Given the description of an element on the screen output the (x, y) to click on. 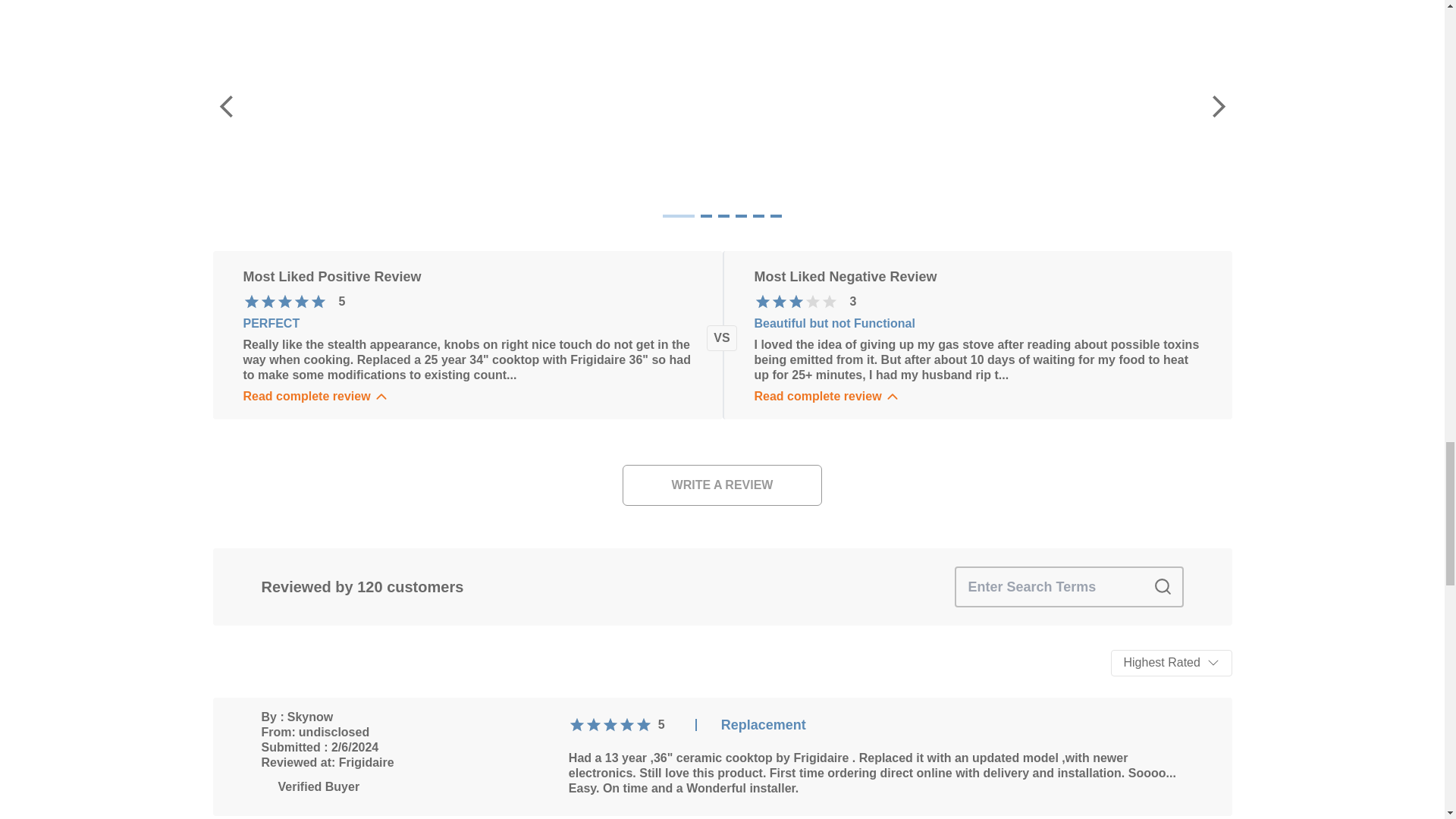
Highest Rated (1170, 663)
3 out of 5 (778, 301)
5 out of 5 (284, 301)
5 out of 5 (610, 724)
WRITE A REVIEW (722, 485)
